Given the description of an element on the screen output the (x, y) to click on. 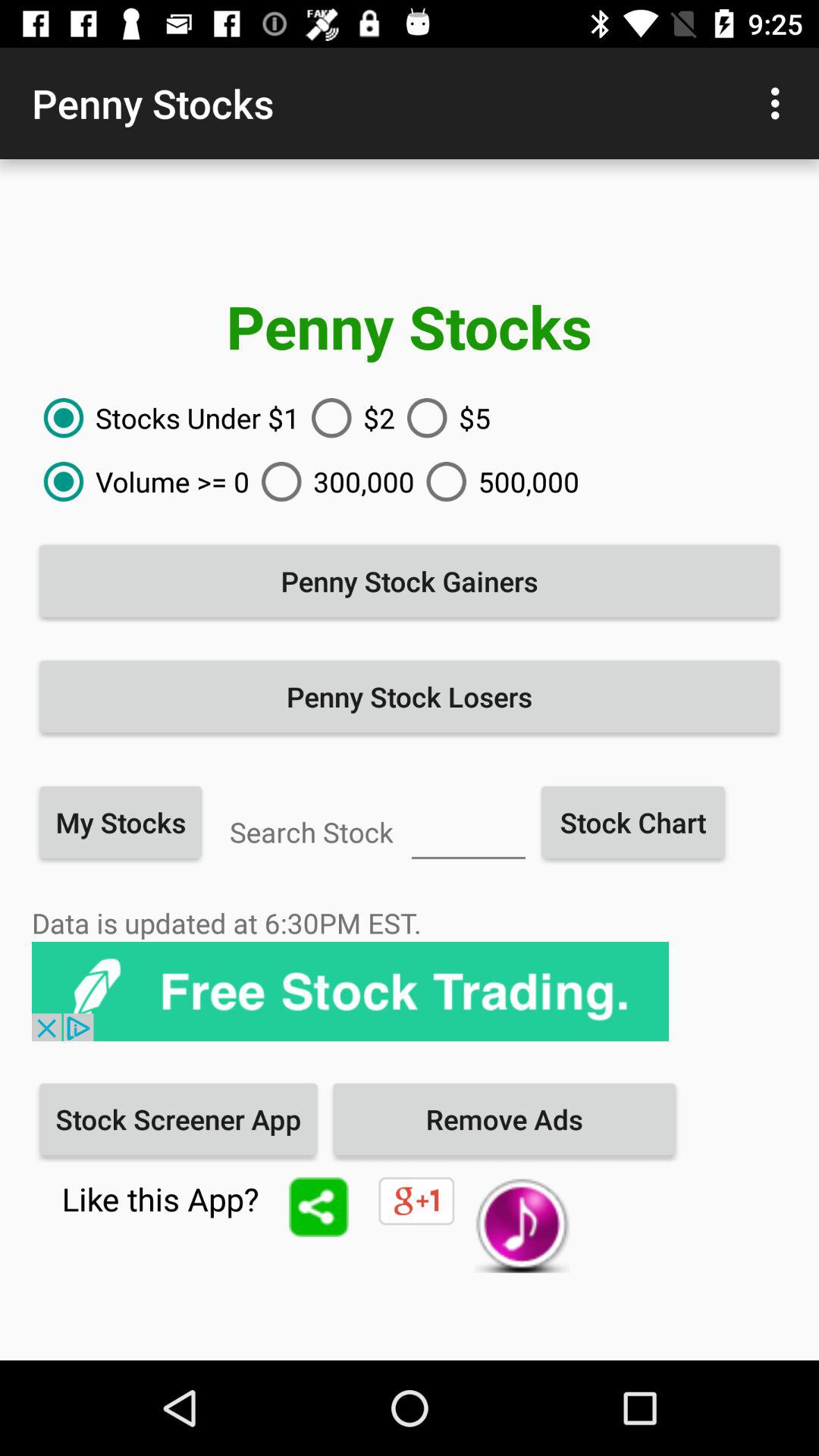
open the icon next to the stocks under $1 (347, 417)
